Given the description of an element on the screen output the (x, y) to click on. 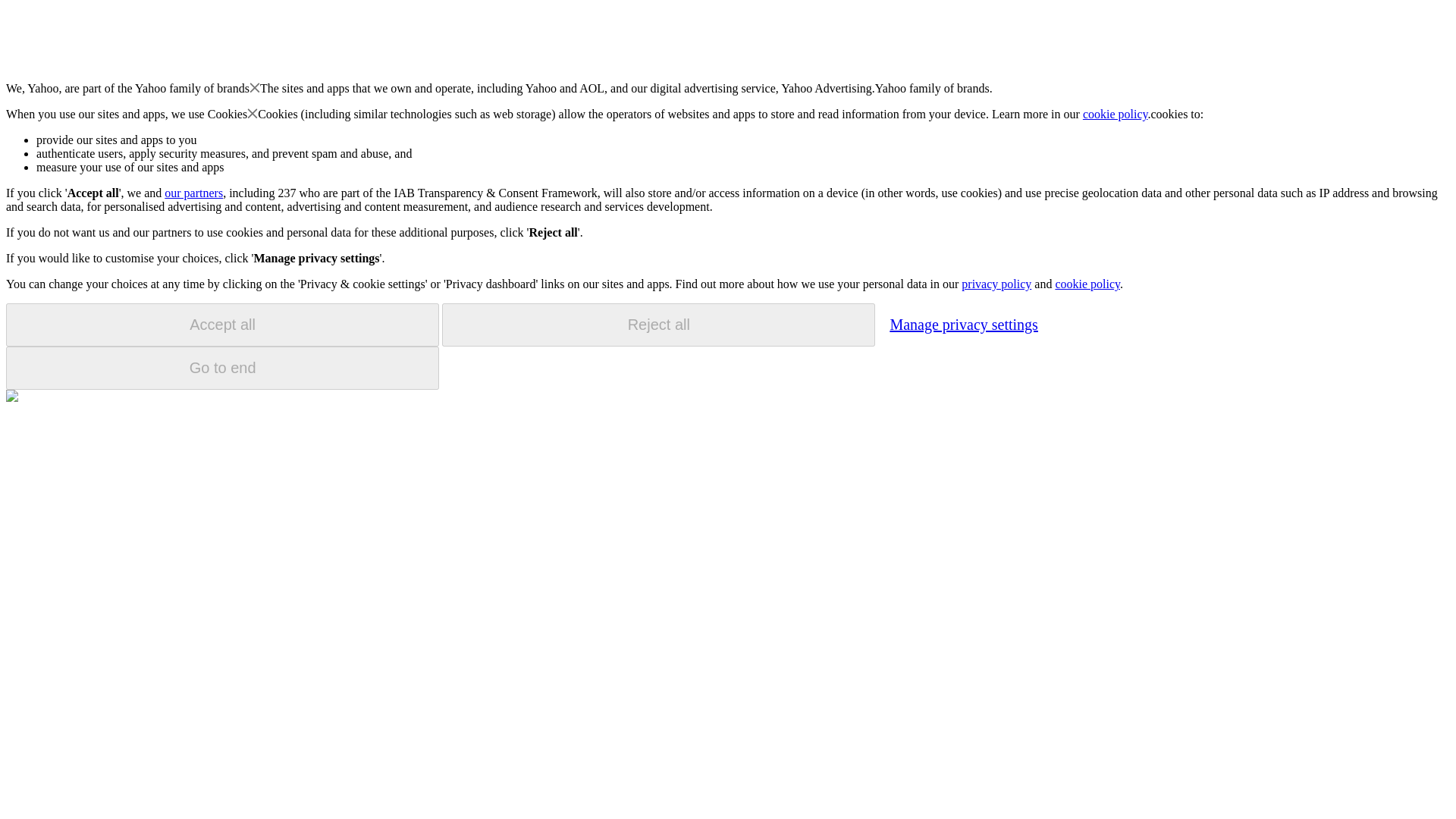
privacy policy (995, 283)
Accept all (222, 324)
Go to end (222, 367)
cookie policy (1115, 113)
our partners (193, 192)
Manage privacy settings (963, 323)
cookie policy (1086, 283)
Reject all (658, 324)
